Given the description of an element on the screen output the (x, y) to click on. 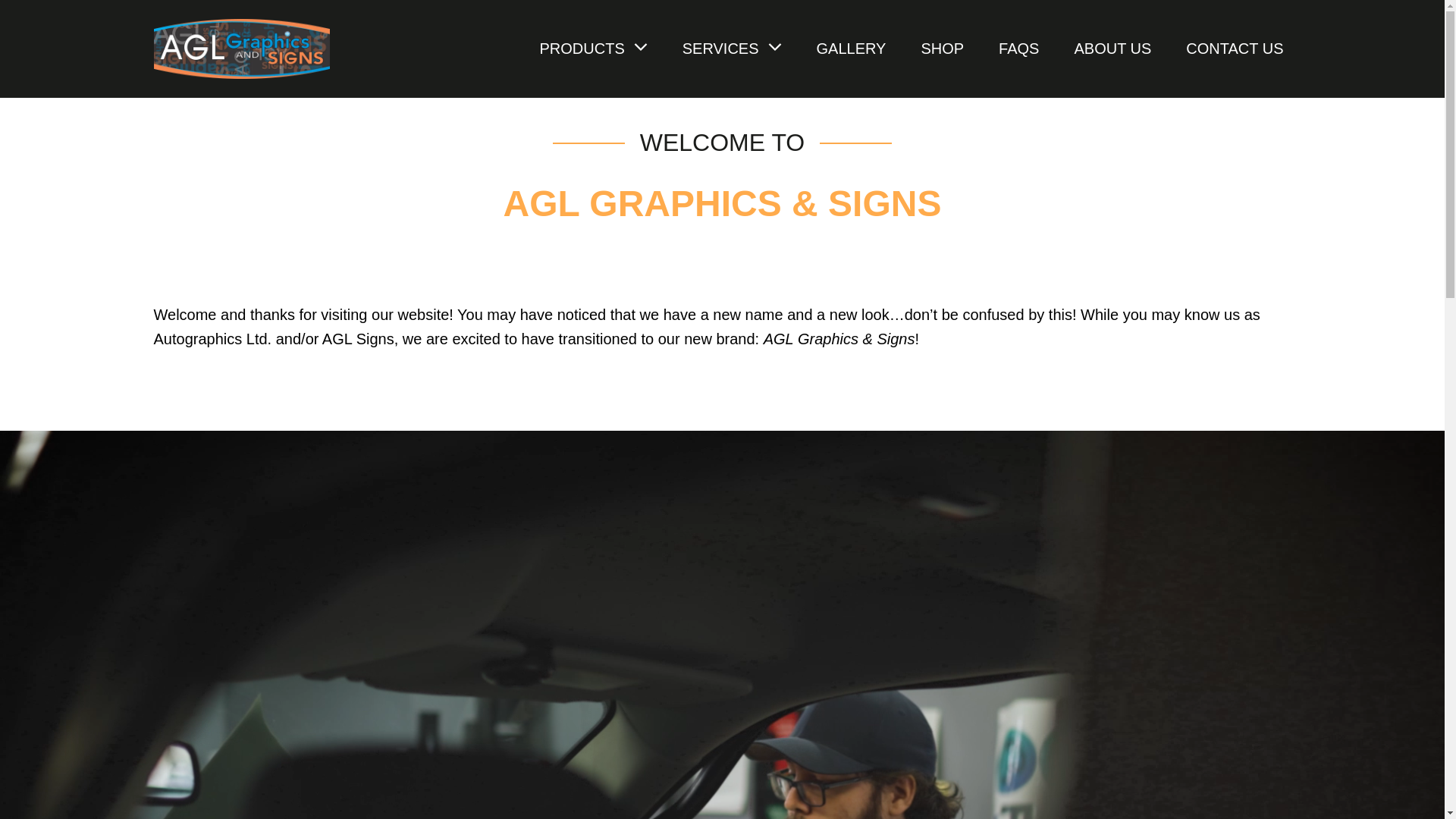
FAQS Element type: text (1018, 48)
SERVICES Element type: text (731, 48)
SHOP Element type: text (941, 48)
AGL Graphics & Signs -  Element type: hover (241, 48)
ABOUT US Element type: text (1112, 48)
CONTACT US Element type: text (1234, 48)
GALLERY Element type: text (851, 48)
PRODUCTS Element type: text (593, 48)
